Given the description of an element on the screen output the (x, y) to click on. 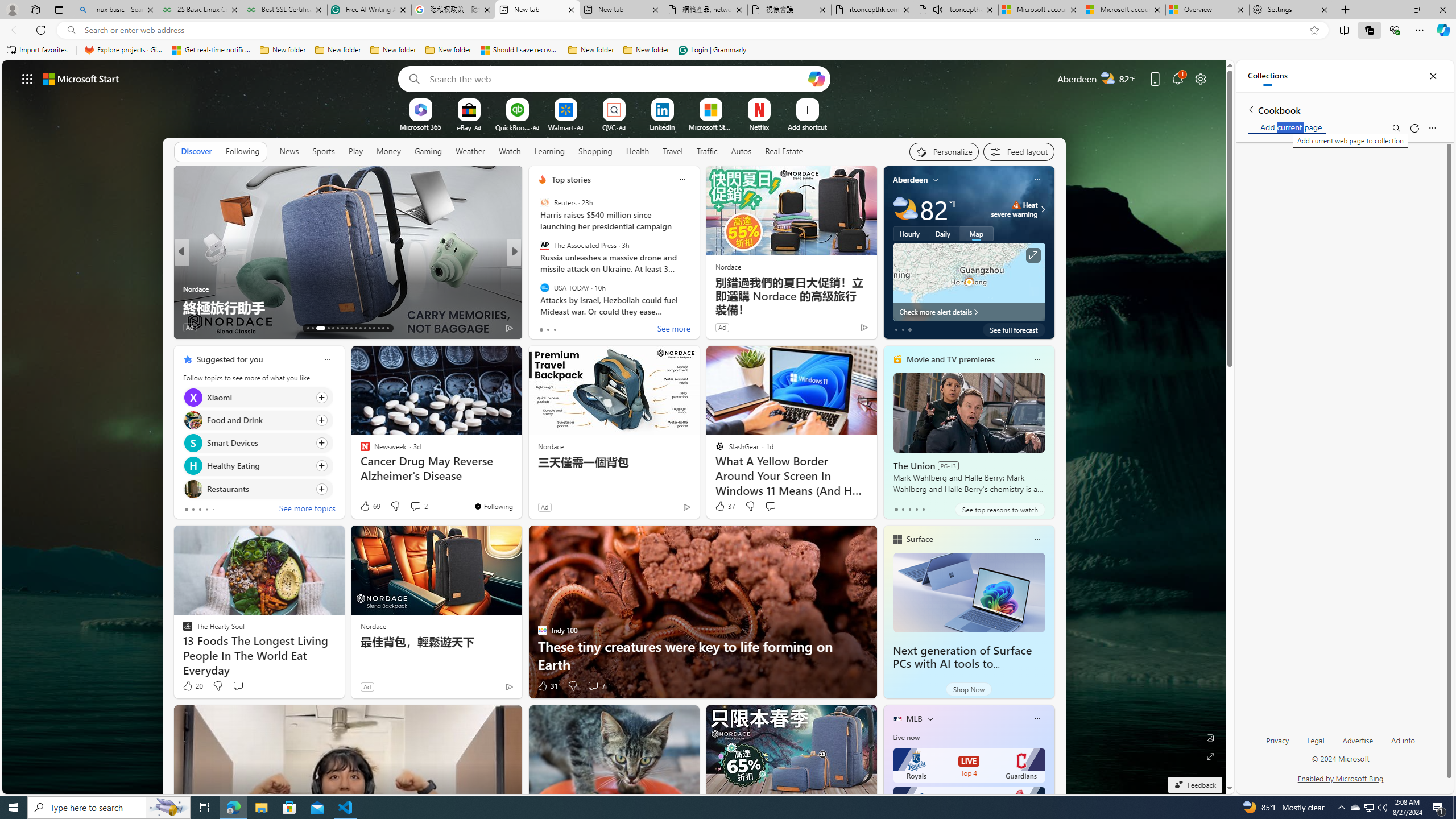
Add current page (1286, 124)
AutomationID: tab-15 (317, 328)
